Given the description of an element on the screen output the (x, y) to click on. 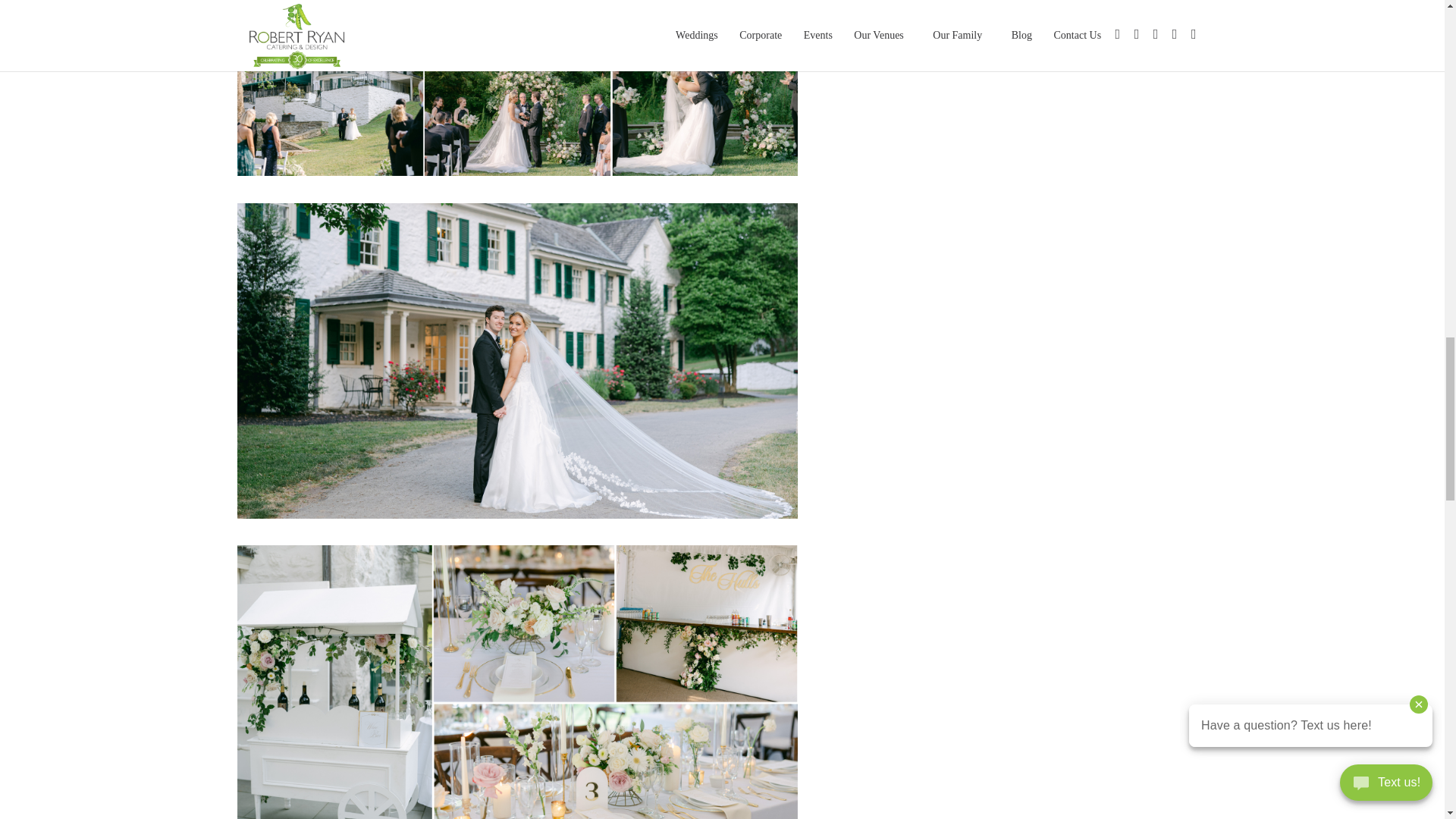
collage of an outdoor wedding ceremony (516, 518)
